Given the description of an element on the screen output the (x, y) to click on. 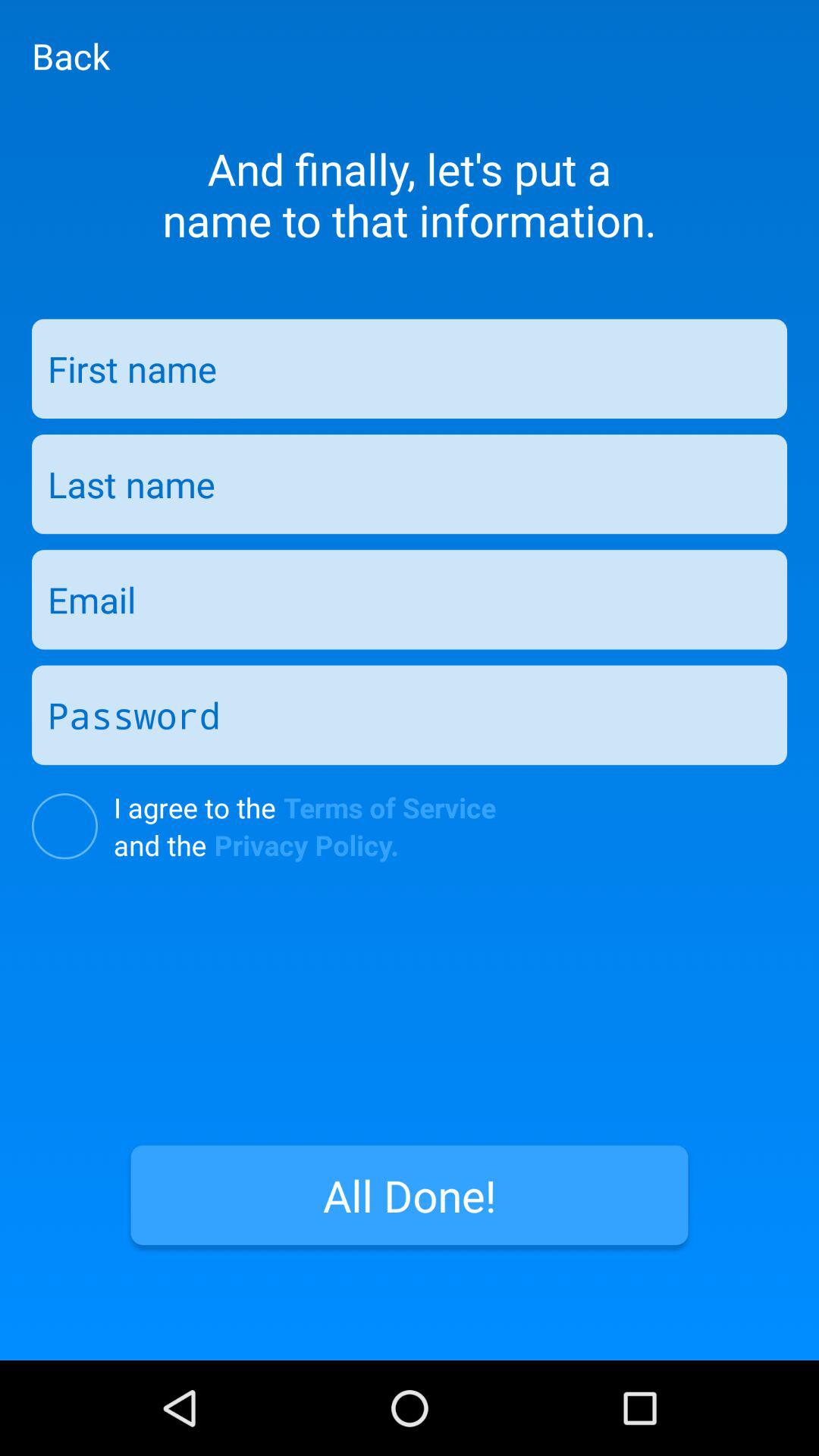
type the first name (409, 368)
